Given the description of an element on the screen output the (x, y) to click on. 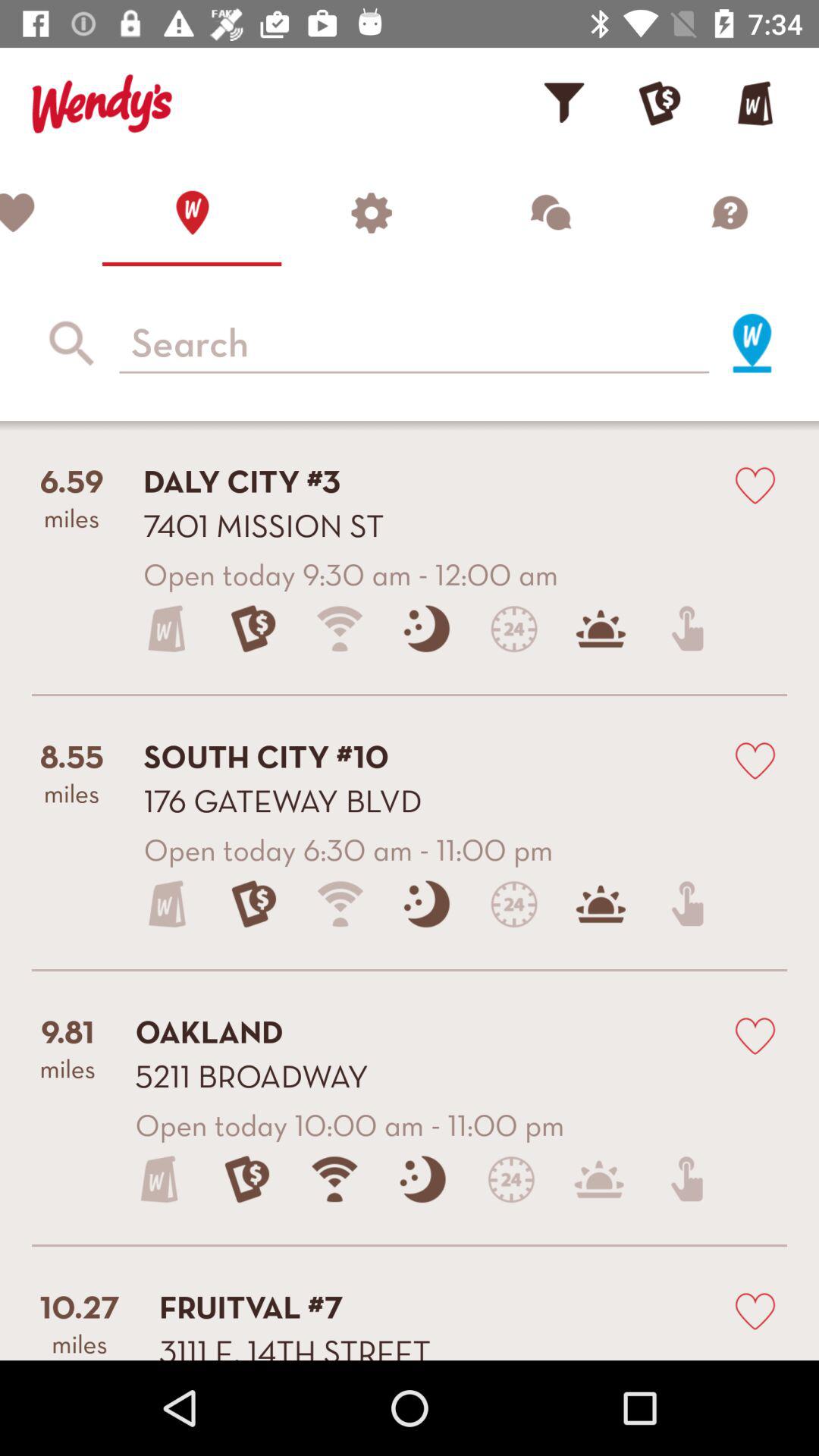
show favourites (51, 212)
